Given the description of an element on the screen output the (x, y) to click on. 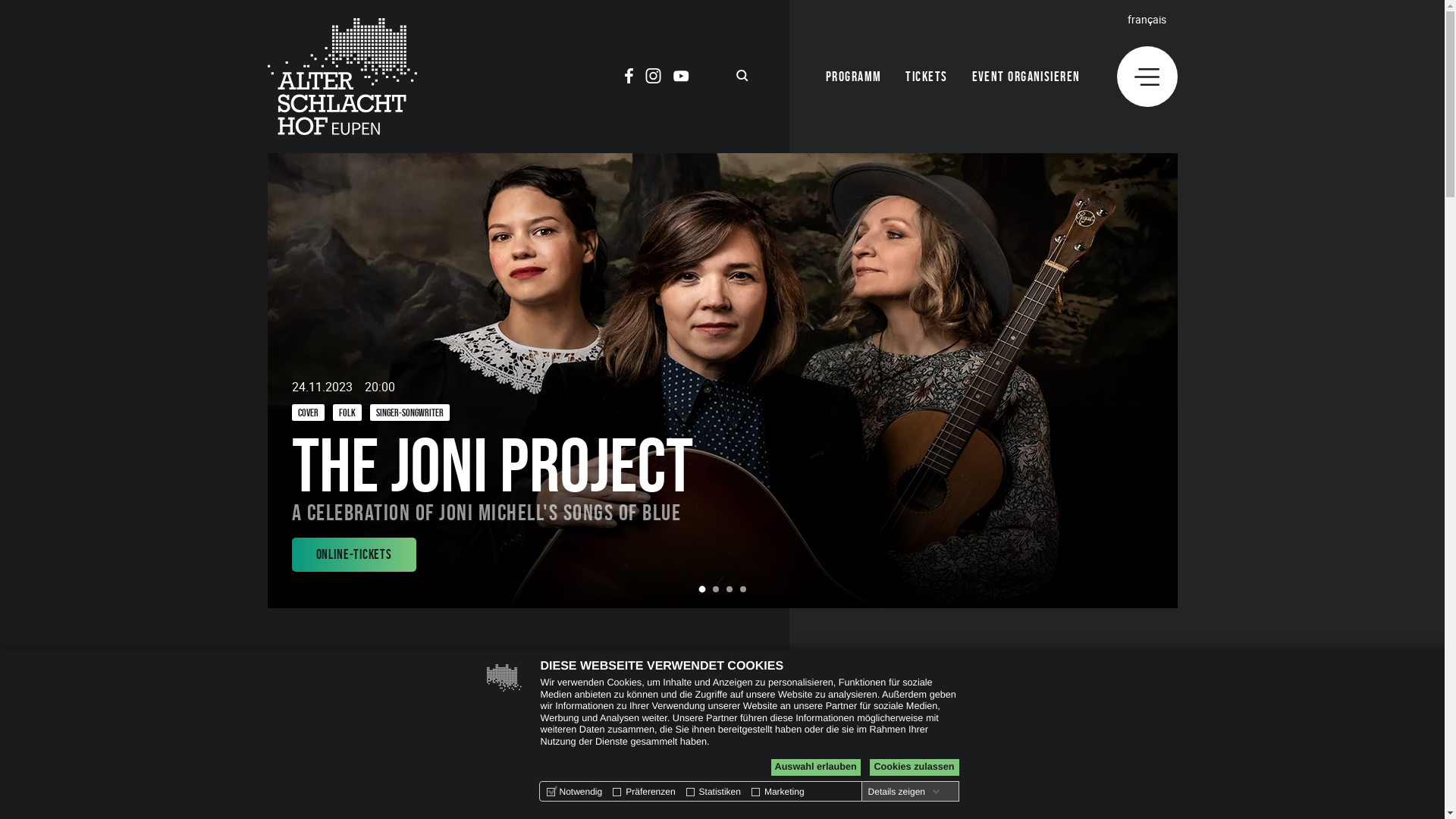
TICKETS Element type: text (926, 76)
ONLINE-TICKETS Element type: text (353, 554)
Cookies zulassen Element type: text (913, 767)
PROGRAMM Element type: text (853, 76)
Auswahl erlauben Element type: text (814, 767)
Details zeigen Element type: text (904, 791)
EVENT ORGANISIEREN Element type: text (1026, 76)
